Given the description of an element on the screen output the (x, y) to click on. 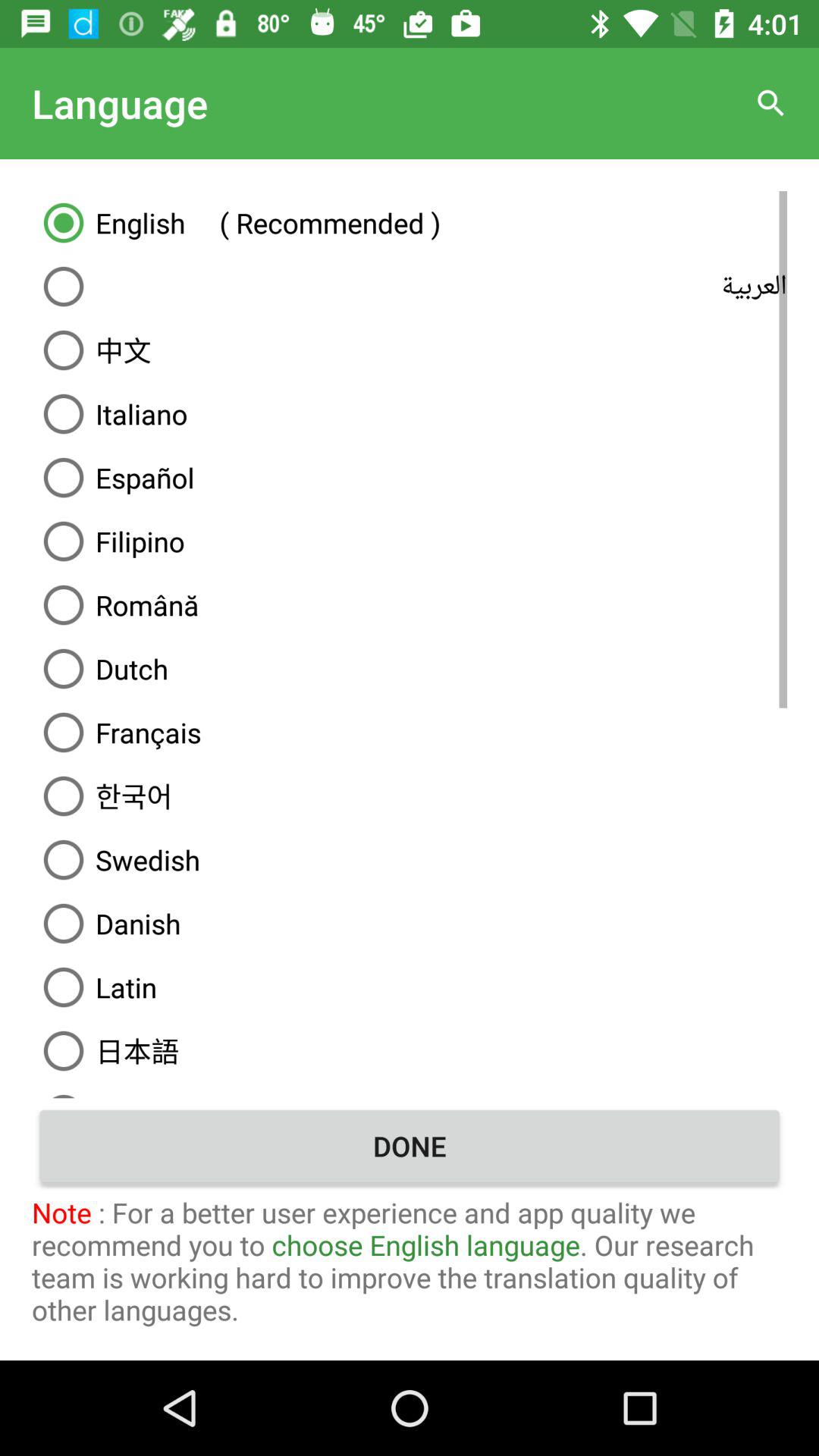
flip to the filipino item (409, 541)
